Given the description of an element on the screen output the (x, y) to click on. 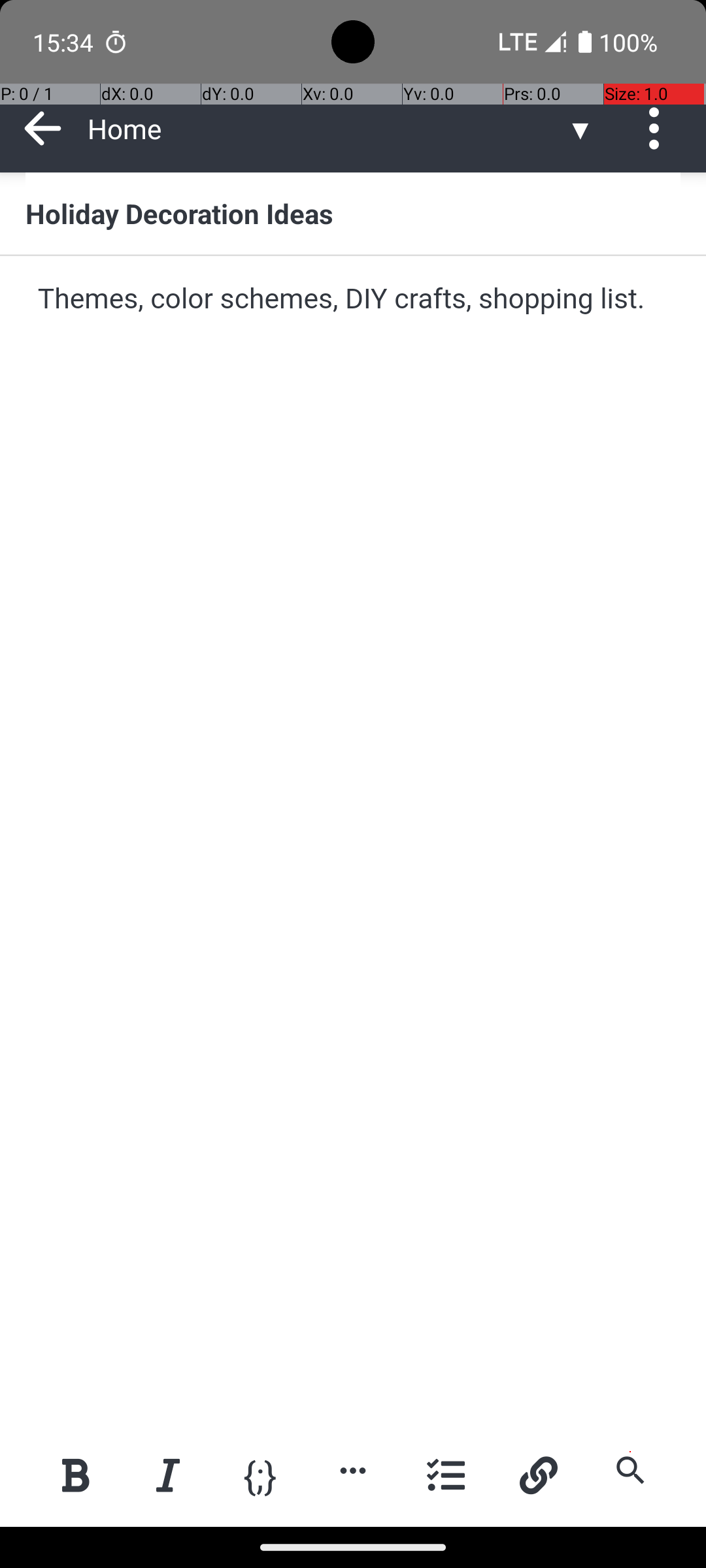
Holiday Decoration Ideas Element type: android.widget.EditText (352, 213)
Themes, color schemes, DIY crafts, shopping list. Element type: android.widget.EditText (354, 298)
